Given the description of an element on the screen output the (x, y) to click on. 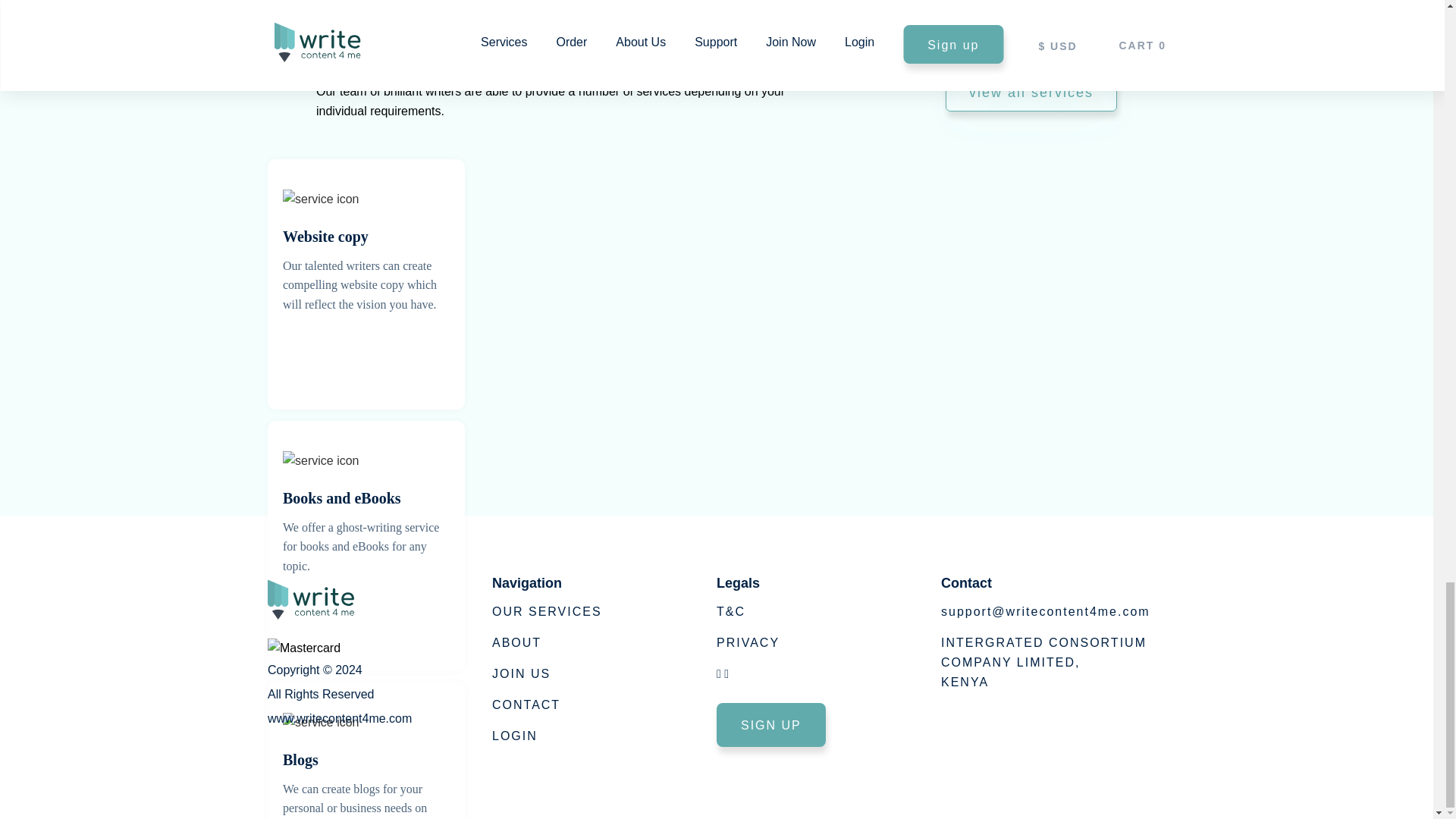
LOGIN (514, 739)
ABOUT (516, 651)
CONTACT (526, 709)
view all services (1030, 92)
OUR SERVICES (1043, 662)
PRIVACY (547, 622)
JOIN US (747, 644)
www.writecontent4me.com (521, 680)
SIGN UP (339, 735)
